Given the description of an element on the screen output the (x, y) to click on. 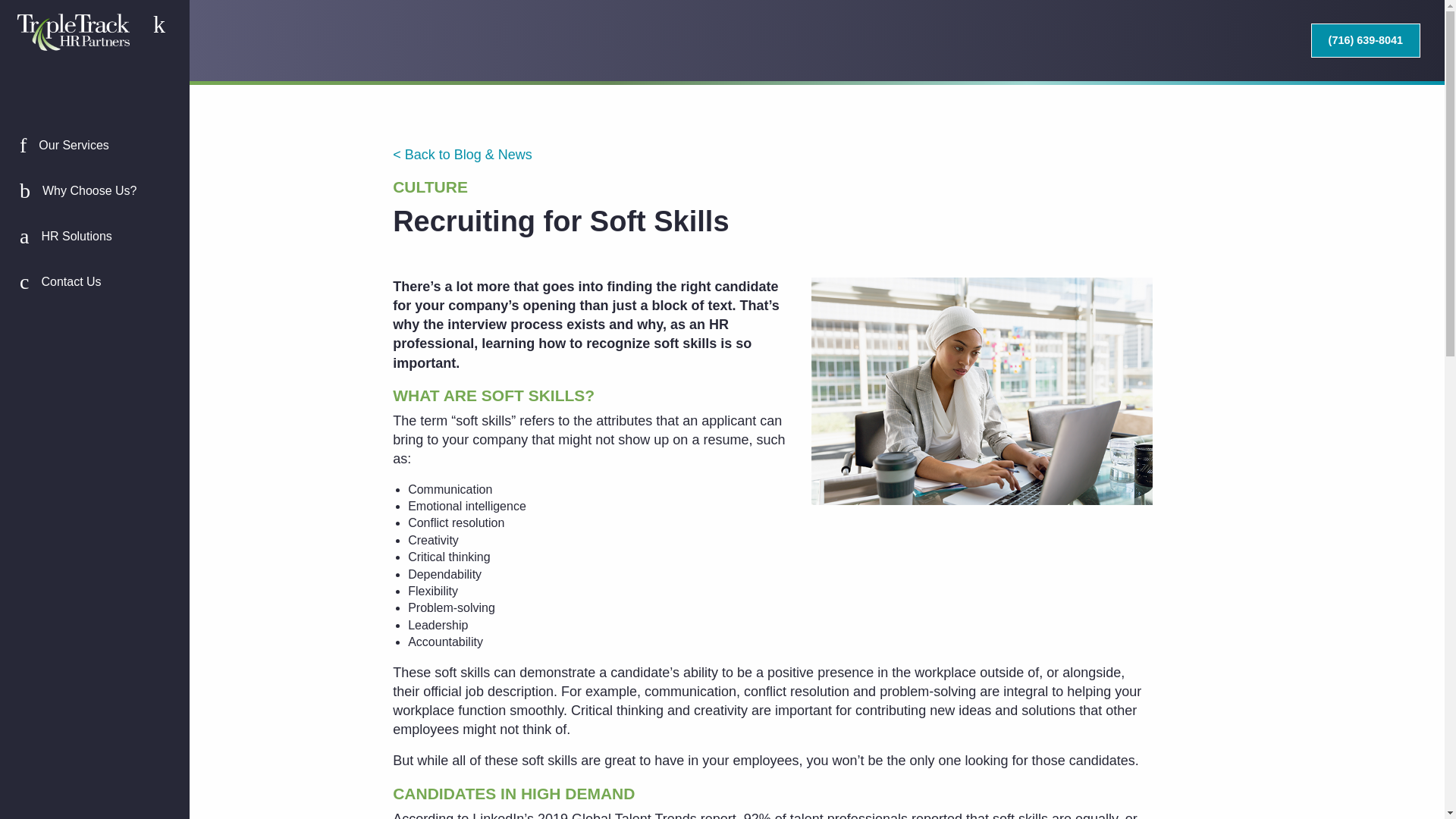
Back to Blog (462, 154)
Contact Us (94, 281)
Why Choose Us? (94, 190)
Our Services (94, 145)
HR Solutions (94, 236)
